Given the description of an element on the screen output the (x, y) to click on. 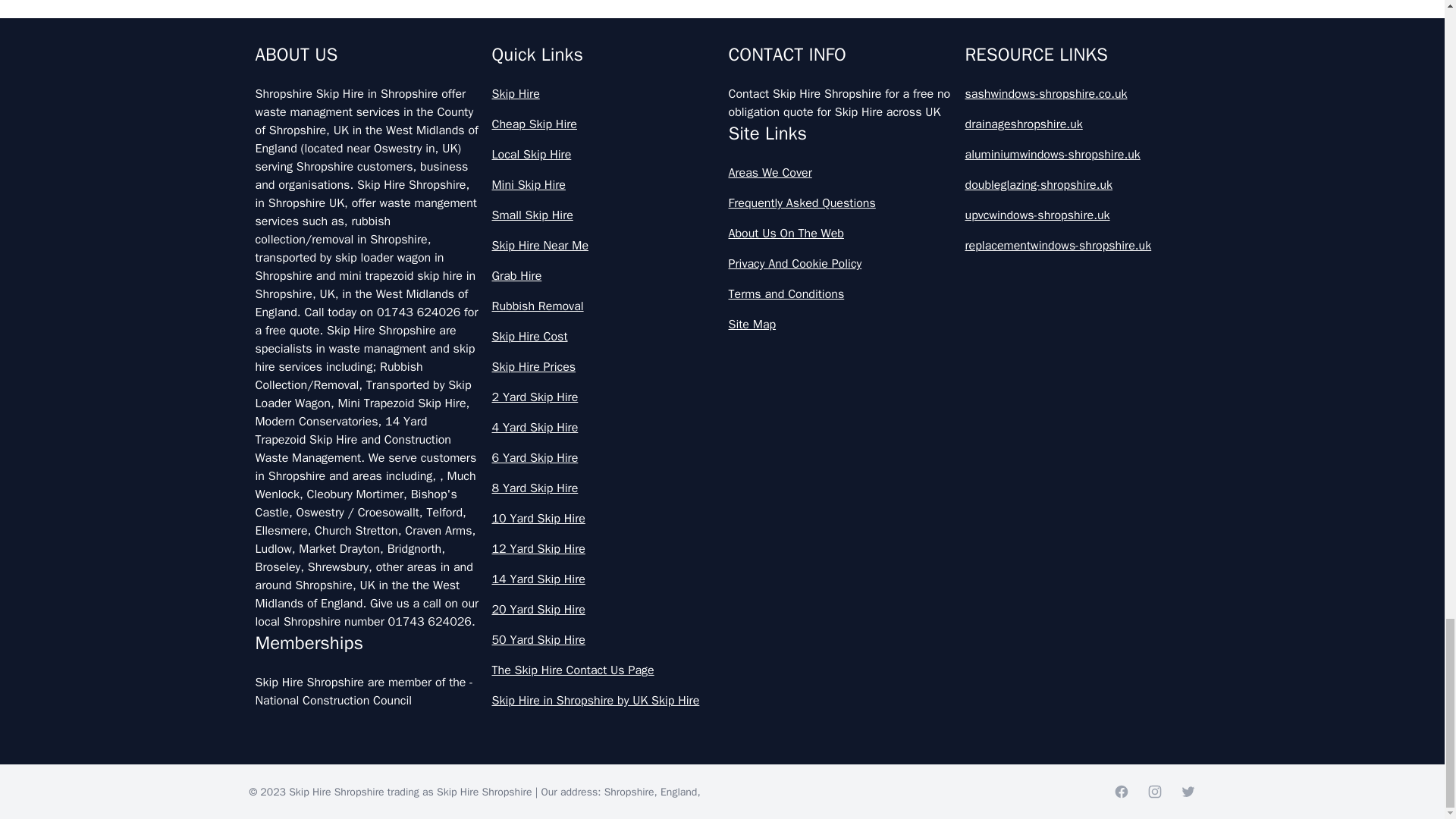
How Much Do Skip Bins Cost To Hire In Shropshire (722, 36)
doubleglazing-shropshire.uk (1076, 185)
replacementwindows-shropshire.uk (1076, 245)
How Much Does A Skip Cost To Hire In Shropshire (722, 770)
How Much Does A 4 Yard Skip Cost To Hire In Shropshire (722, 436)
How Much Does A Midi Skip Cost To Hire In Shropshire (722, 636)
How Much Do Skip Cost To Hire In Shropshire (722, 102)
How Much Does A Large Skip Cost To Hire In Shropshire (722, 570)
How Much Does A 6 Yard Skip Cost To Hire In Shropshire (722, 503)
How Much Do Skips Cost To Hire Near Me In Shropshire (722, 236)
